Given the description of an element on the screen output the (x, y) to click on. 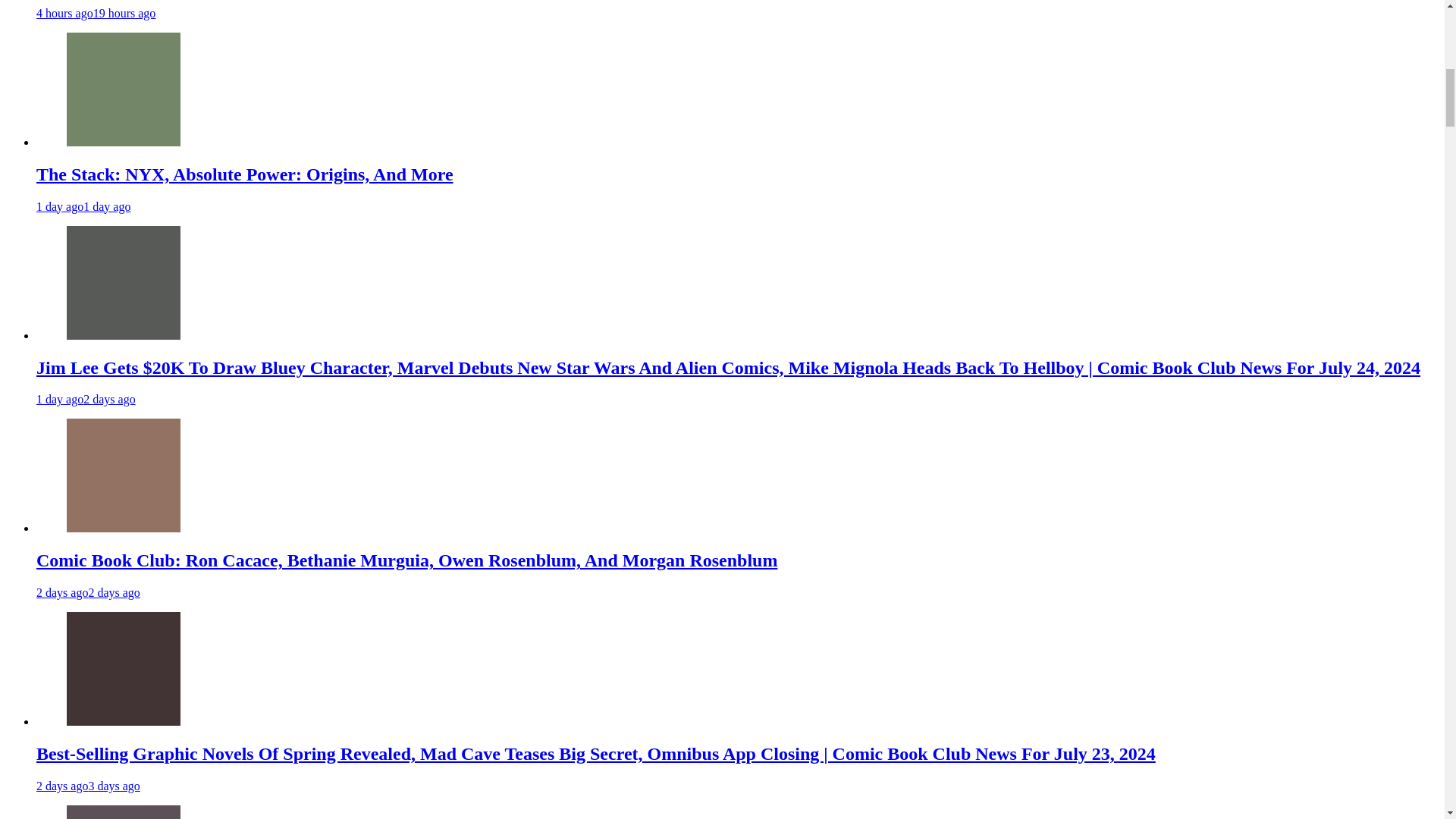
The Stack: NYX, Absolute Power: Origins, And More (123, 89)
The Stack: NYX, Absolute Power: Origins, And More (244, 174)
The Stack: NYX, Absolute Power: Origins, And More (123, 141)
